Given the description of an element on the screen output the (x, y) to click on. 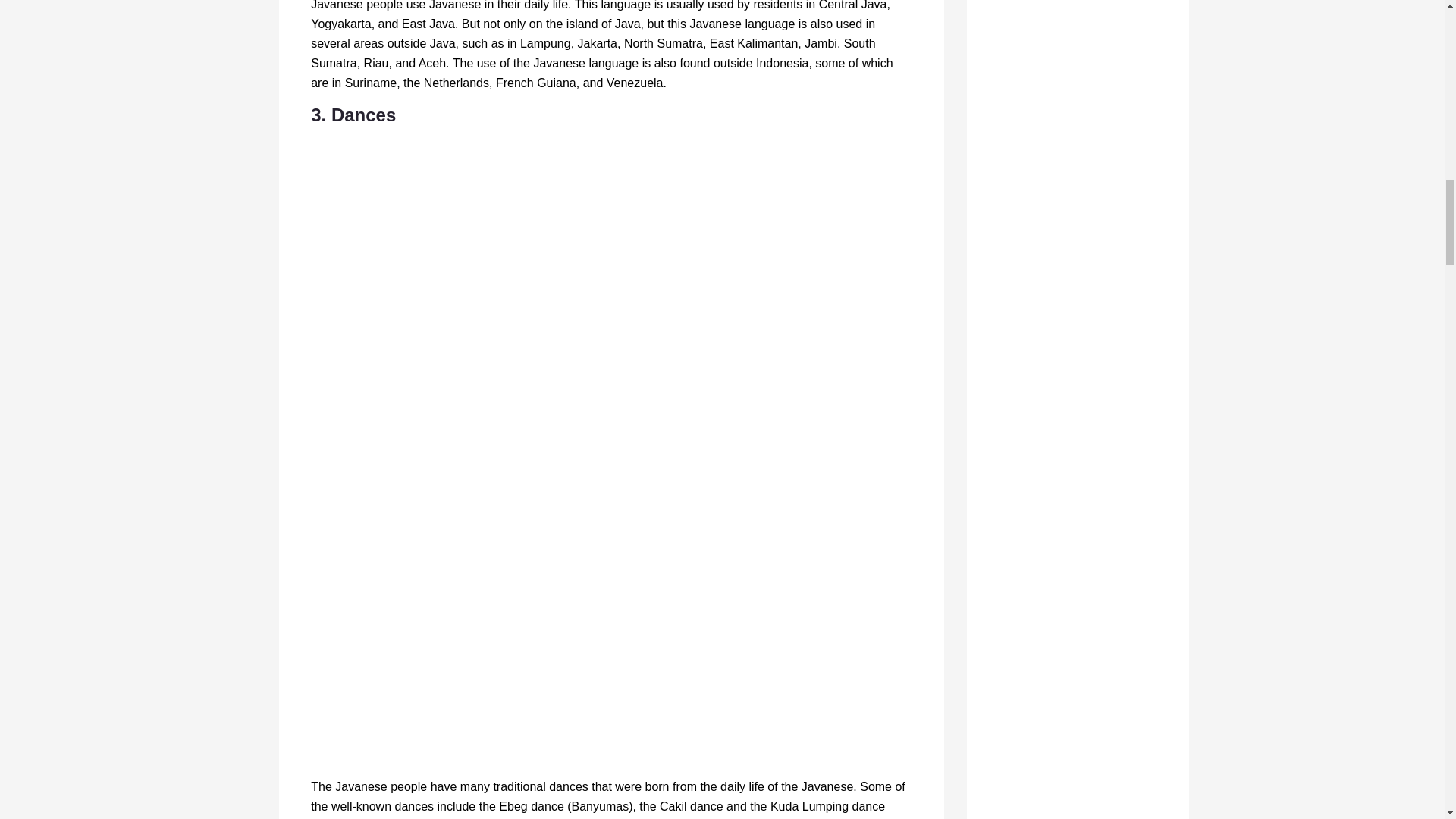
Advertisement (611, 694)
